Given the description of an element on the screen output the (x, y) to click on. 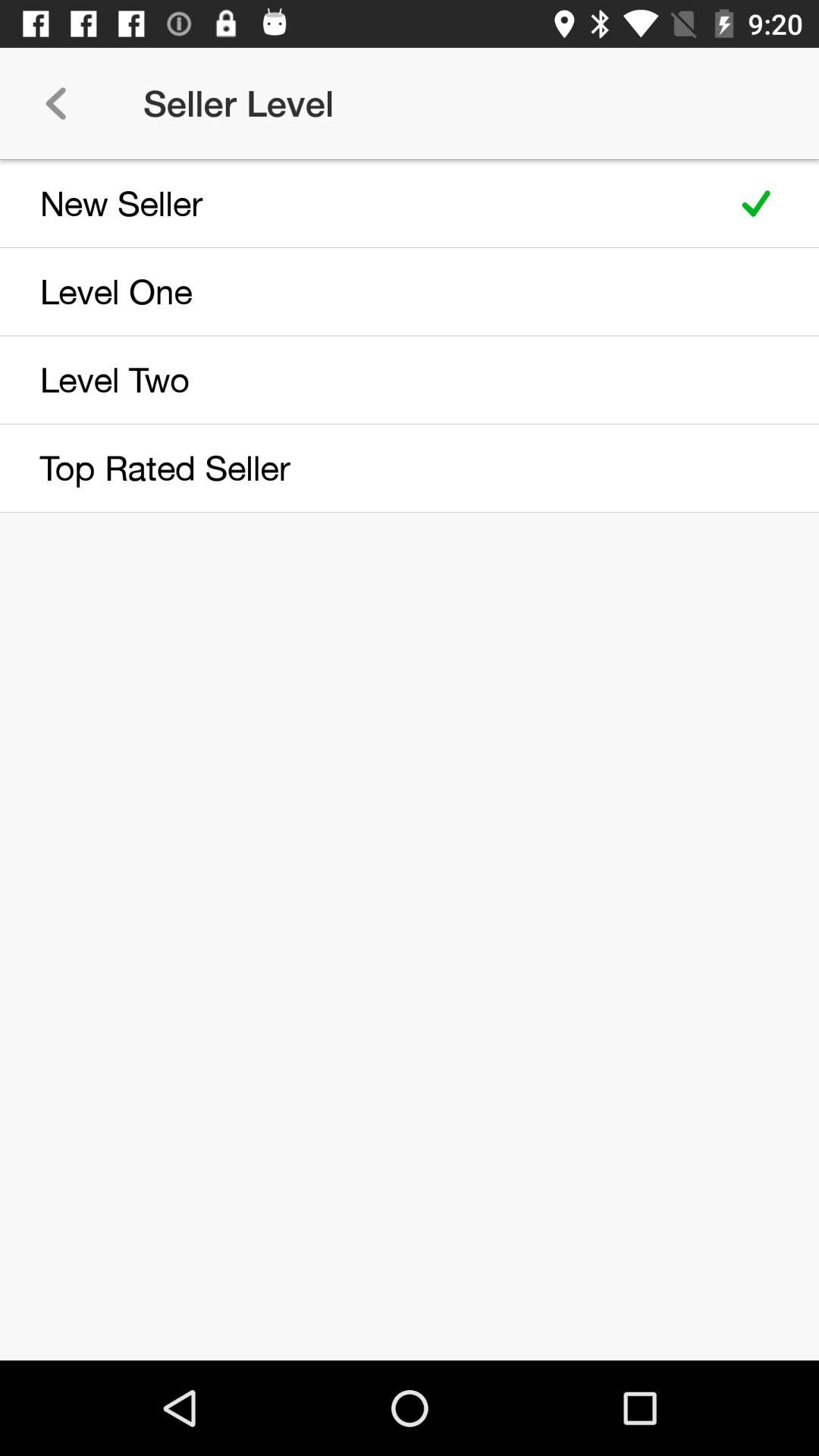
launch the icon to the right of the new seller icon (756, 203)
